Given the description of an element on the screen output the (x, y) to click on. 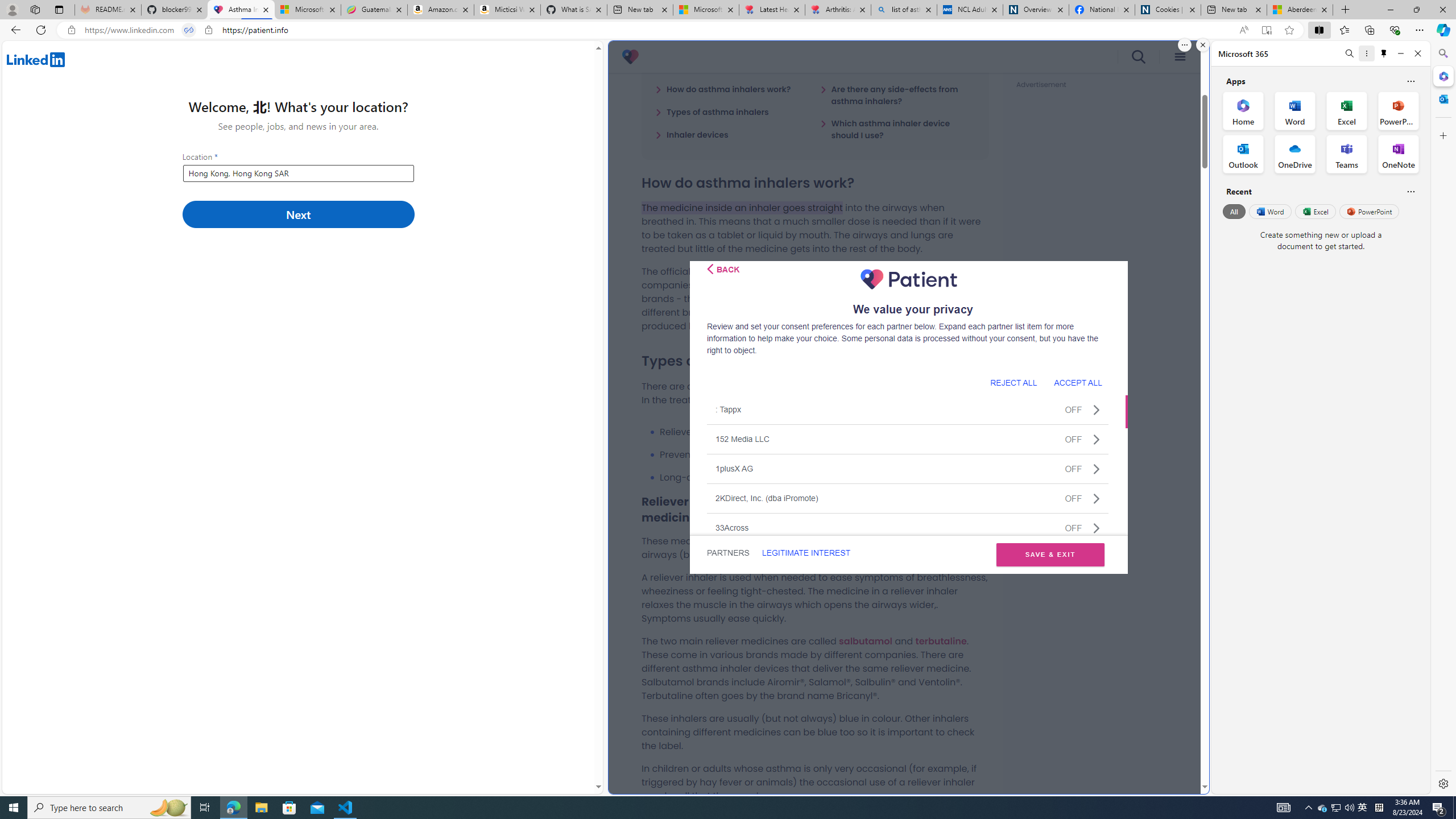
Patient 3.0 (630, 56)
LEGITIMATE INTEREST (805, 552)
152 Media LLCOFF (907, 438)
2KDirect, Inc. (dba iPromote)OFF (907, 498)
Aberdeen, Hong Kong SAR hourly forecast | Microsoft Weather (1300, 9)
Arthritis: Ask Health Professionals (838, 9)
1plusX AGOFF (907, 468)
Close split screen. (1202, 45)
Close Customize pane (1442, 135)
